Given the description of an element on the screen output the (x, y) to click on. 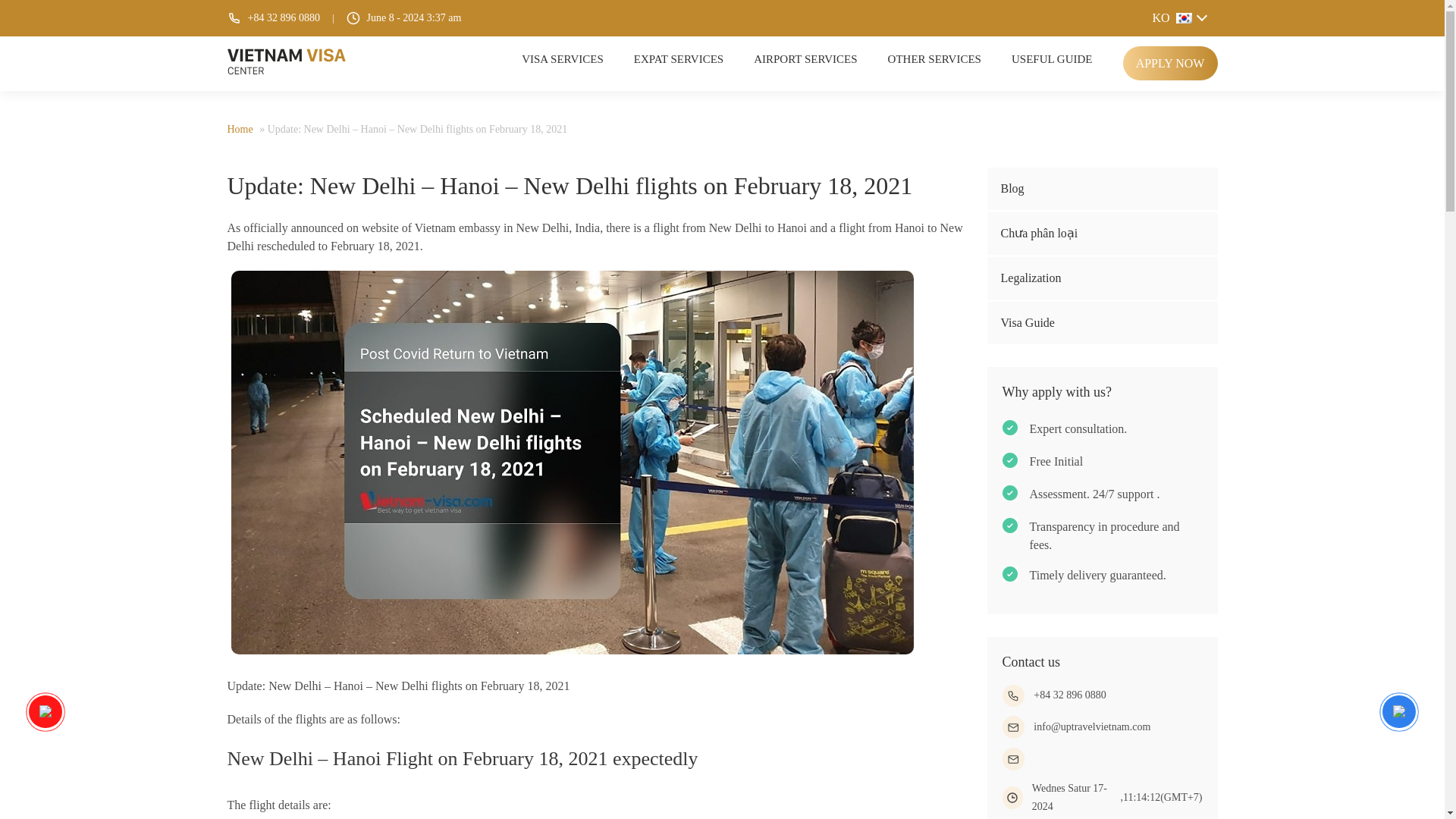
APPLY NOW (1169, 62)
OTHER SERVICES (934, 59)
Expat Services (678, 59)
VISA SERVICES (562, 59)
USEFUL GUIDE (1052, 59)
AIRPORT SERVICES (805, 59)
Visa Services (562, 59)
AIRPORT SERVICES (805, 59)
KO (1178, 18)
EXPAT SERVICES (678, 59)
